Given the description of an element on the screen output the (x, y) to click on. 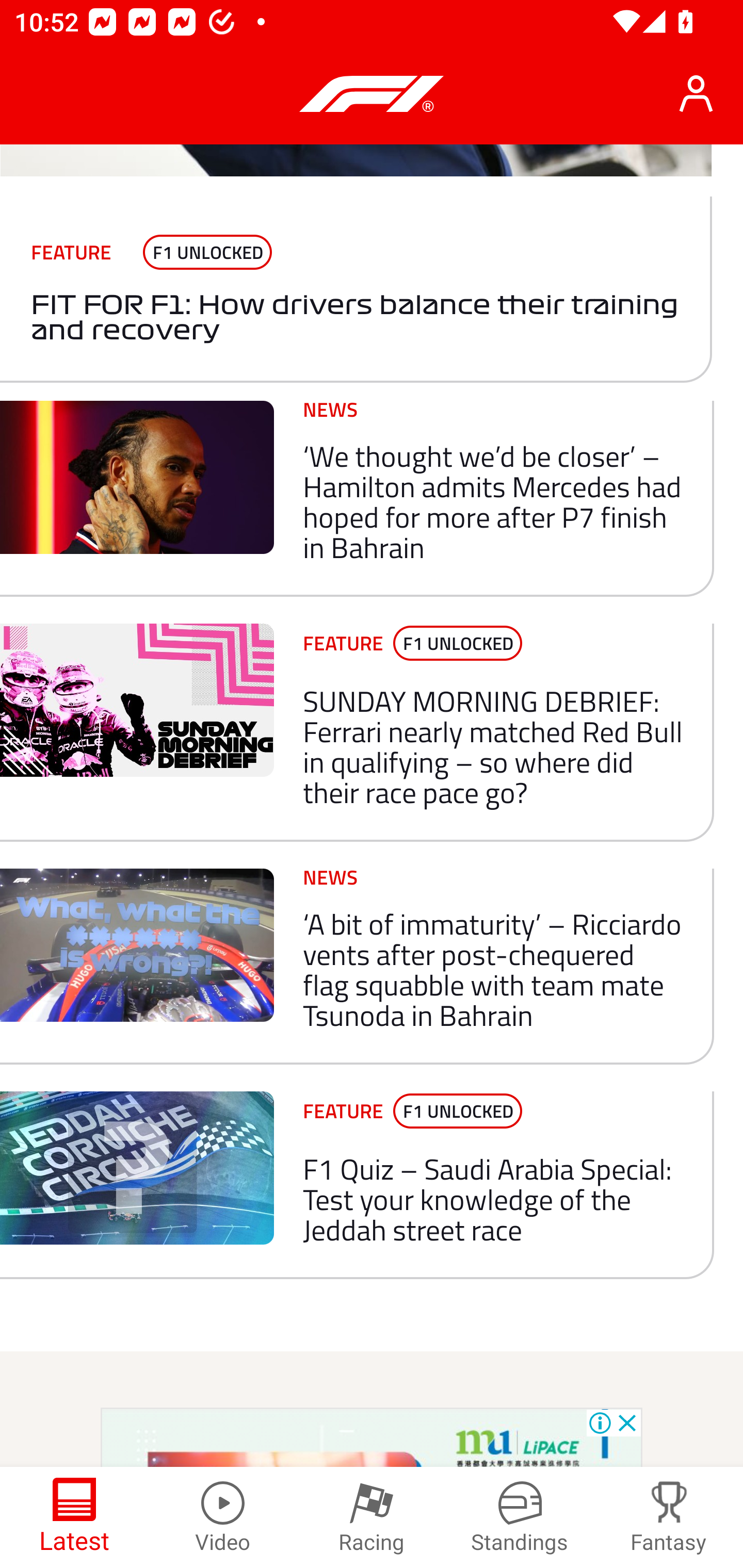
Video (222, 1517)
Racing (371, 1517)
Standings (519, 1517)
Fantasy (668, 1517)
